Given the description of an element on the screen output the (x, y) to click on. 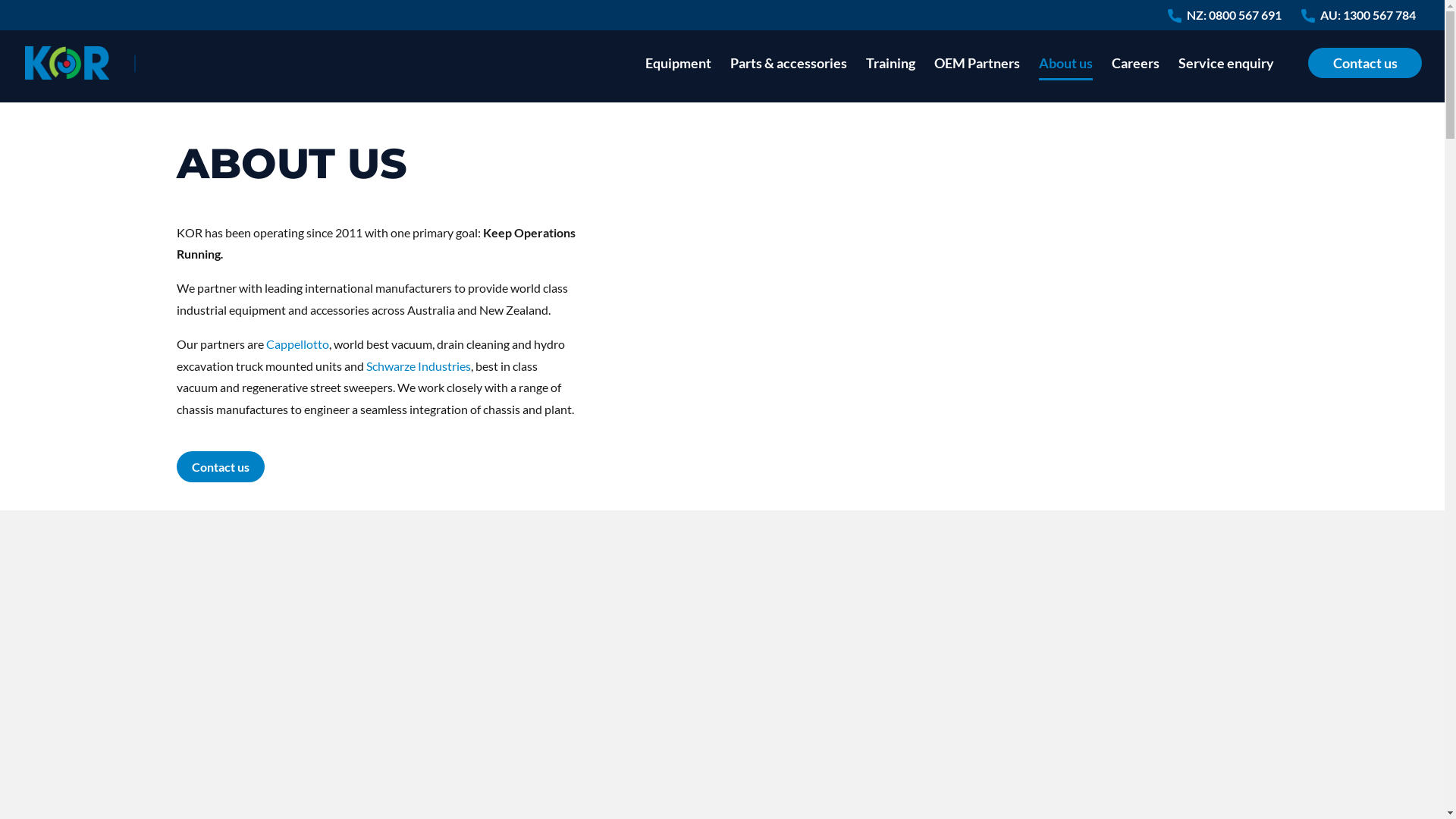
About us Element type: text (1065, 79)
OEM Partners Element type: text (976, 79)
Training Element type: text (890, 79)
Contact us Element type: text (1364, 79)
NZ: 0800 567 691 Element type: text (1233, 19)
Parts & accessories Element type: text (788, 79)
AU: 1300 567 784 Element type: text (1367, 19)
Schwarze Industries Element type: text (417, 365)
Contact us Element type: text (219, 466)
Equipment Element type: text (678, 79)
Cappellotto Element type: text (296, 343)
Service enquiry Element type: text (1226, 79)
Careers Element type: text (1135, 79)
